Given the description of an element on the screen output the (x, y) to click on. 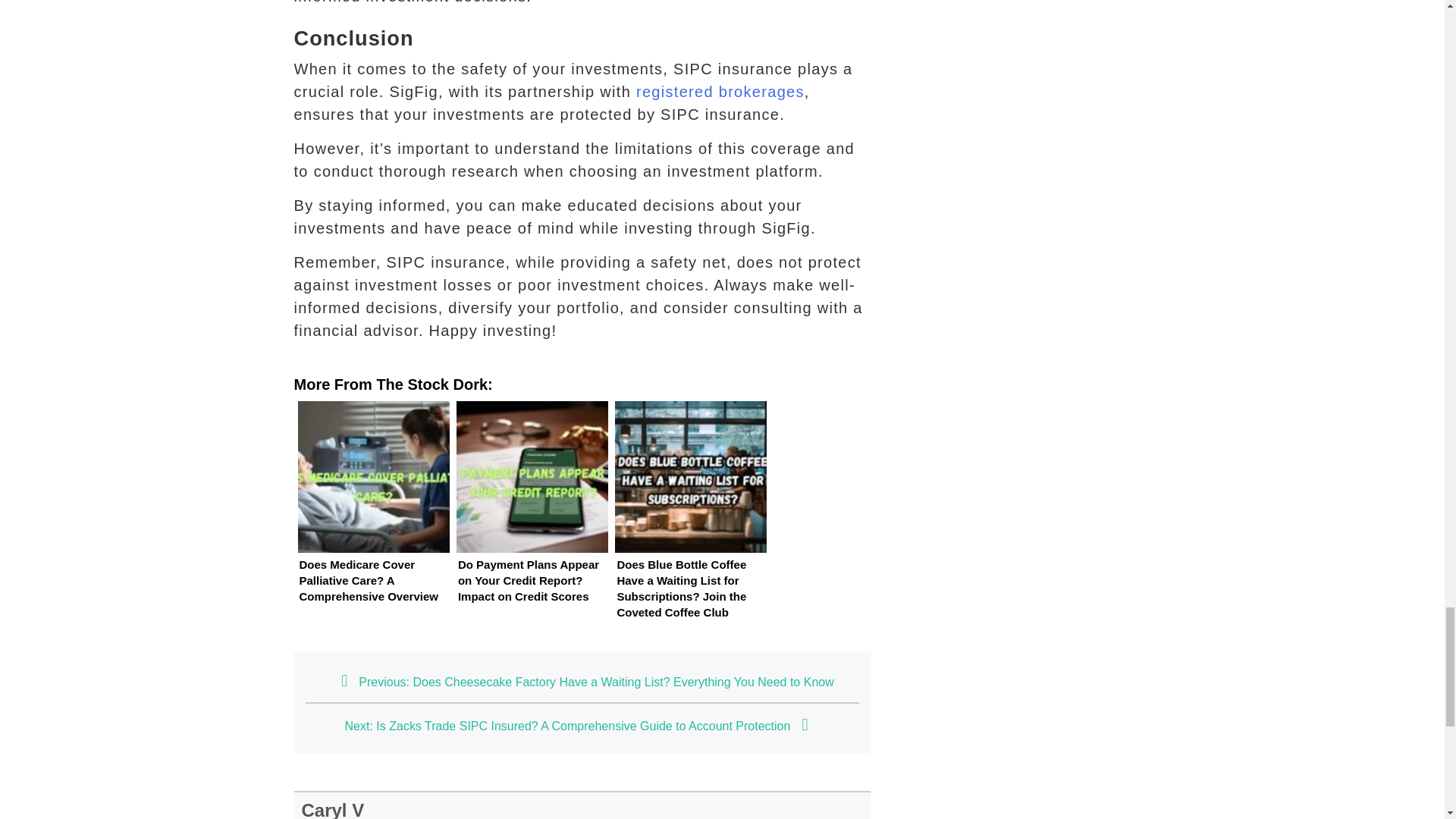
All posts by Caryl V (333, 809)
